Given the description of an element on the screen output the (x, y) to click on. 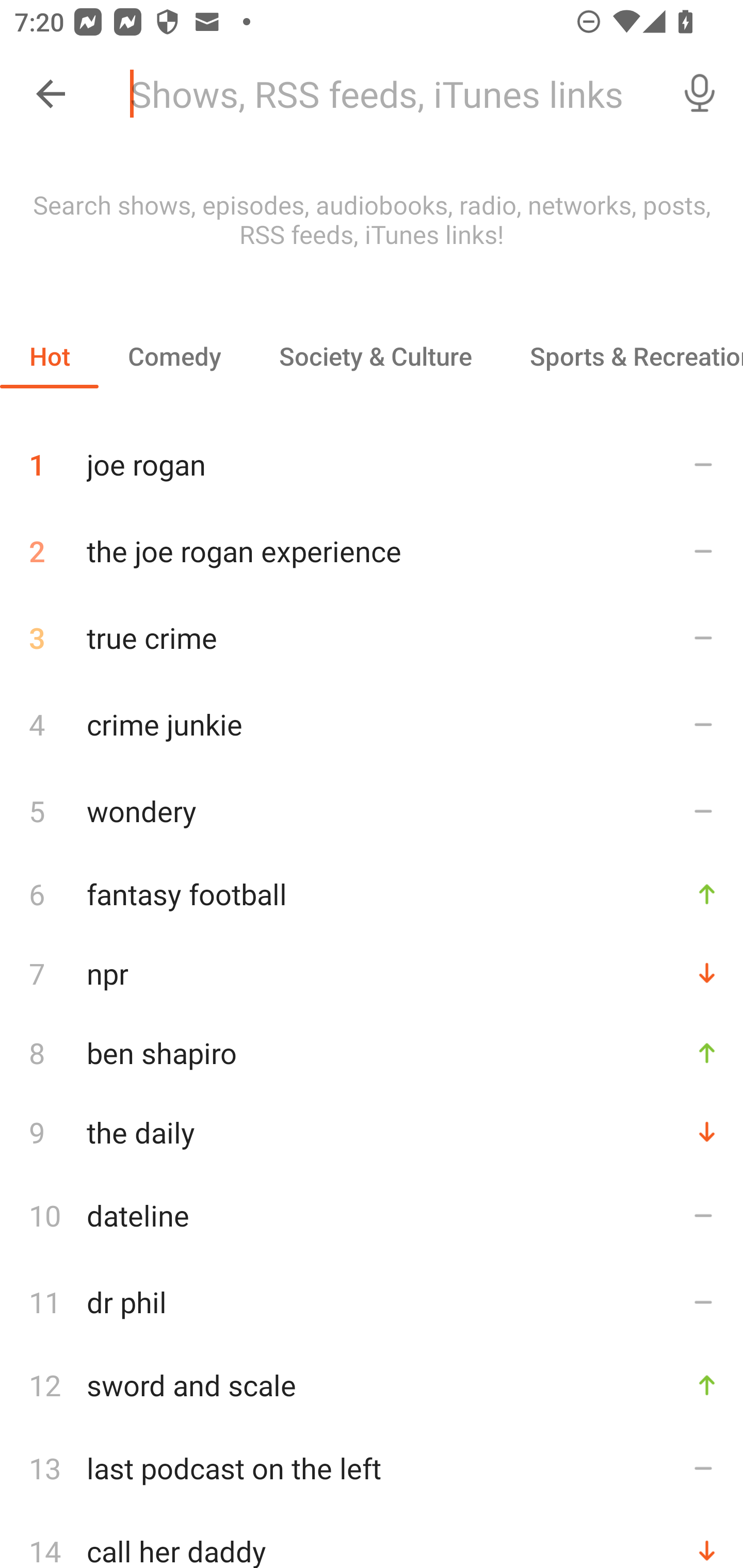
Collapse (50, 93)
Voice Search (699, 93)
Shows, RSS feeds, iTunes links (385, 94)
Hot (49, 355)
Comedy (173, 355)
Society & Culture (374, 355)
Sports & Recreation (621, 355)
1 joe rogan (371, 457)
2 the joe rogan experience (371, 551)
3 true crime (371, 637)
4 crime junkie (371, 723)
5 wondery (371, 810)
6 fantasy football (371, 893)
7 npr (371, 972)
8 ben shapiro (371, 1052)
9 the daily (371, 1131)
10 dateline (371, 1215)
11 dr phil (371, 1302)
12 sword and scale (371, 1385)
13 last podcast on the left (371, 1468)
14 call her daddy (371, 1539)
